Given the description of an element on the screen output the (x, y) to click on. 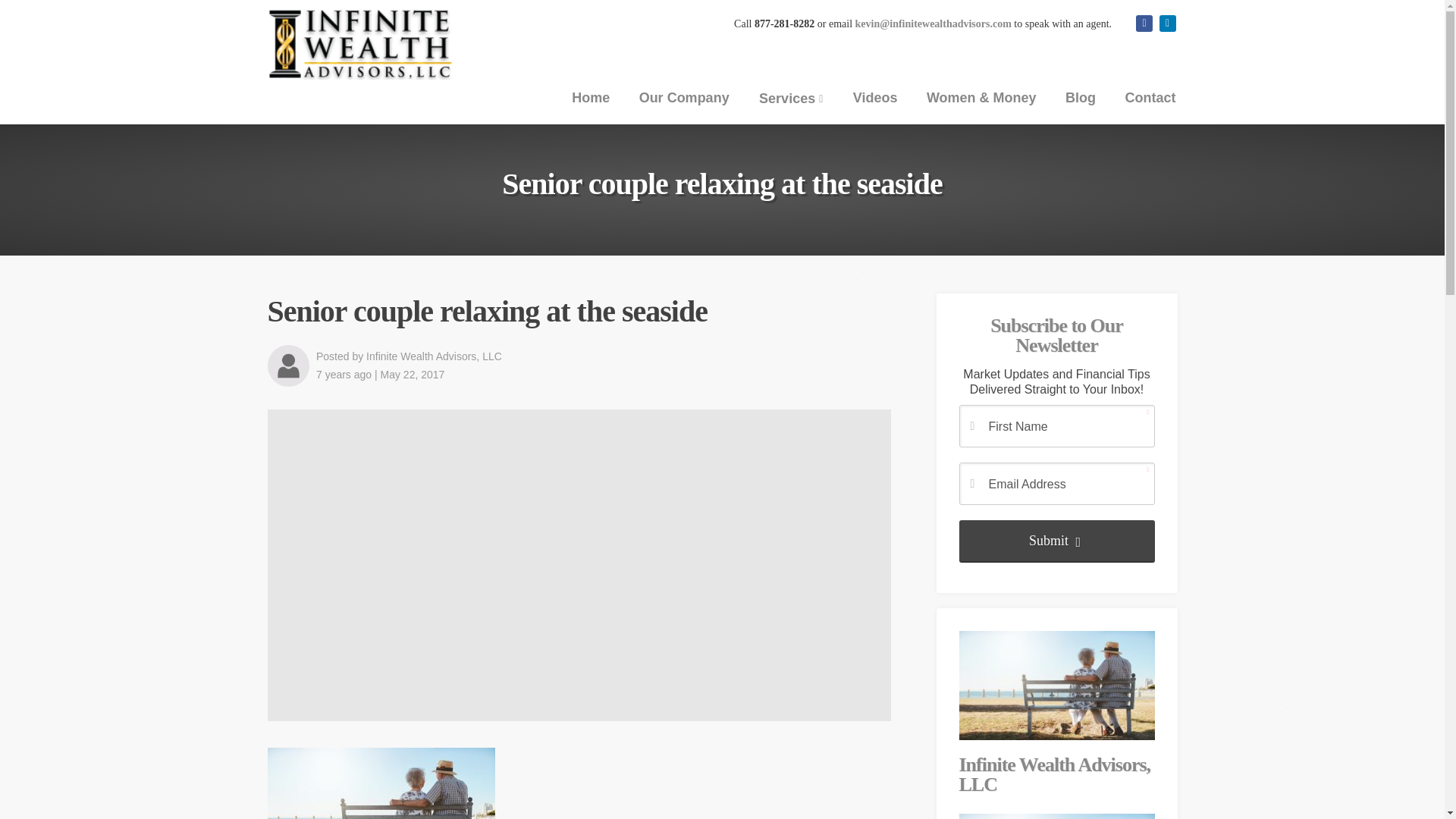
Our Company (684, 97)
Blog (1080, 97)
Home (590, 97)
Contact (1149, 97)
Services (790, 98)
Visit us on linkedin (1166, 23)
Submit (1056, 541)
Visit us on facebook (1144, 23)
Videos (874, 97)
